Given the description of an element on the screen output the (x, y) to click on. 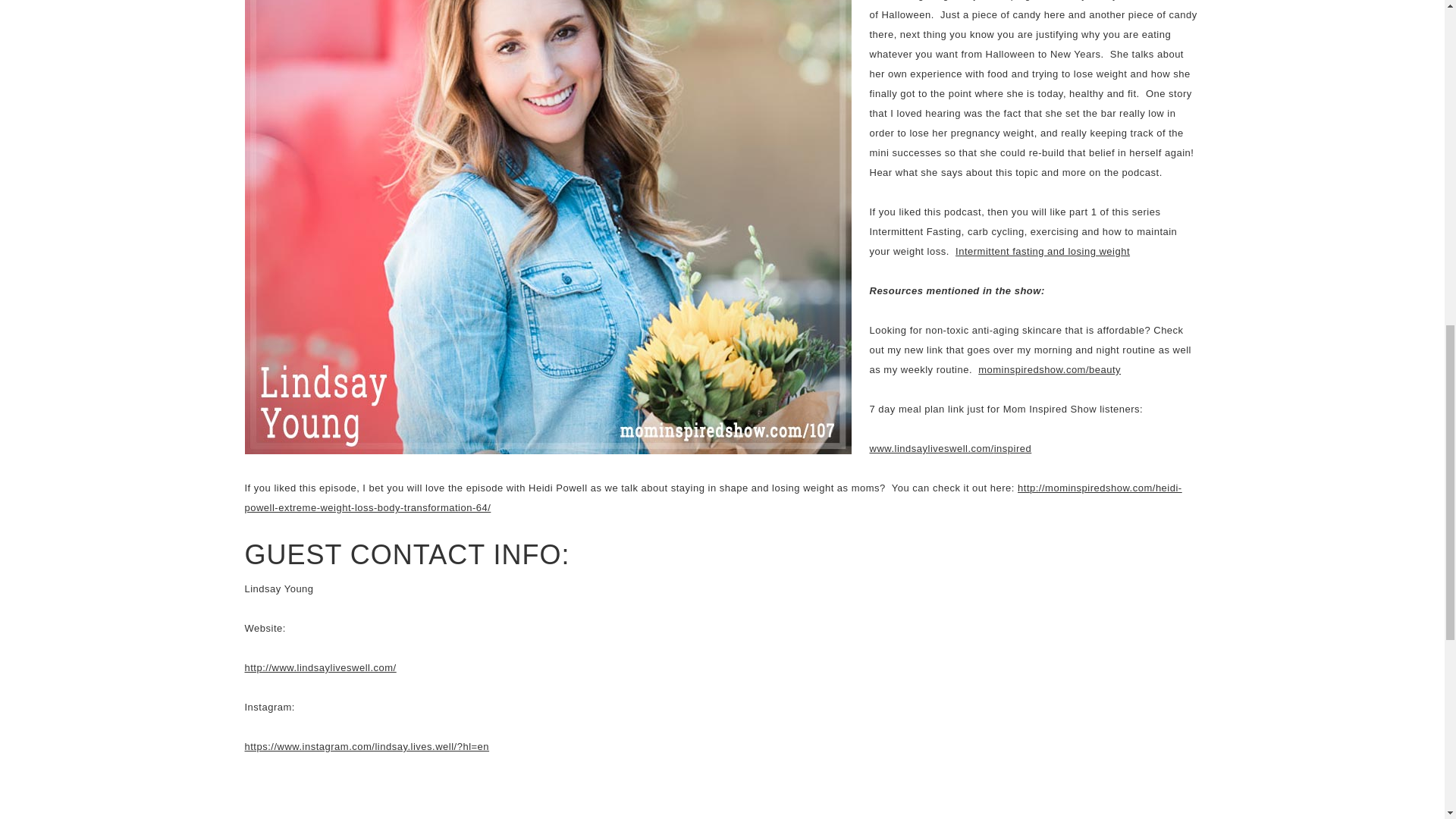
Intermittent fasting and losing weight (1042, 251)
